Given the description of an element on the screen output the (x, y) to click on. 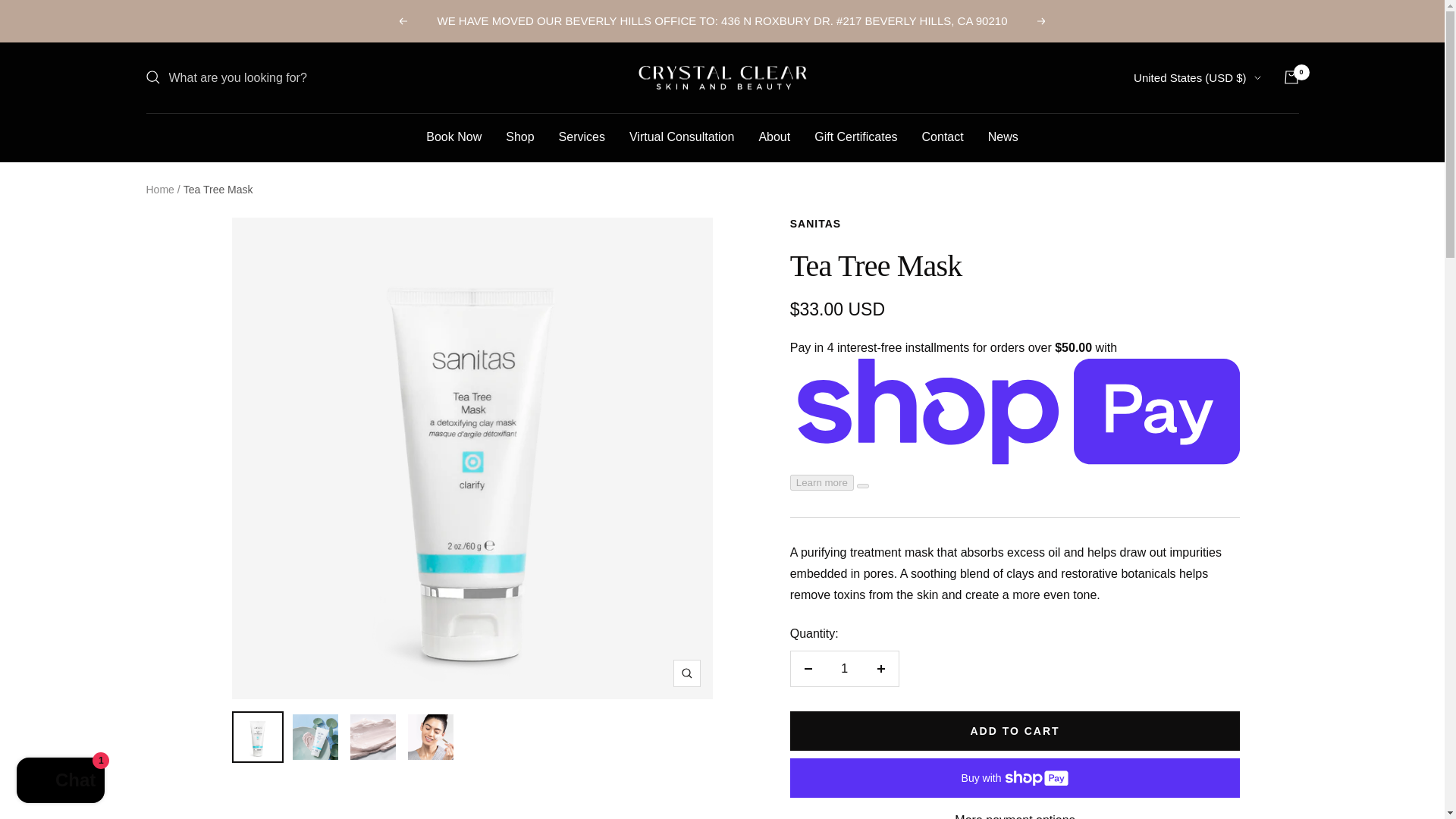
CZ (1153, 236)
1 (844, 668)
BE (1153, 183)
NO (1153, 578)
CH (1153, 762)
MY (1153, 499)
ES (1153, 710)
AT (1153, 157)
SG (1153, 658)
FR (1153, 314)
IE (1153, 394)
FI (1153, 289)
NL (1153, 526)
PL (1153, 604)
AU (1153, 130)
